Given the description of an element on the screen output the (x, y) to click on. 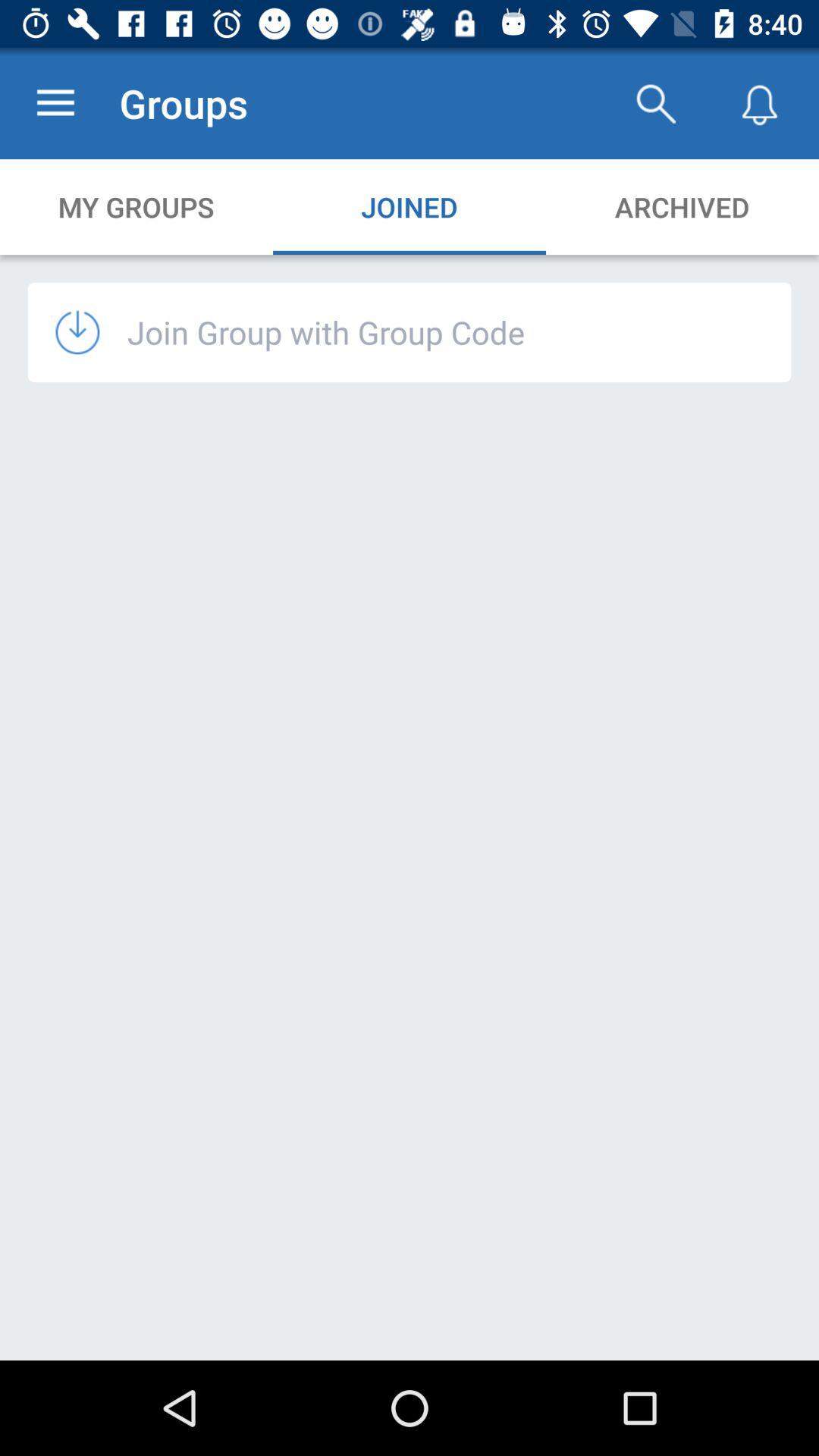
press icon above the my groups (55, 103)
